Given the description of an element on the screen output the (x, y) to click on. 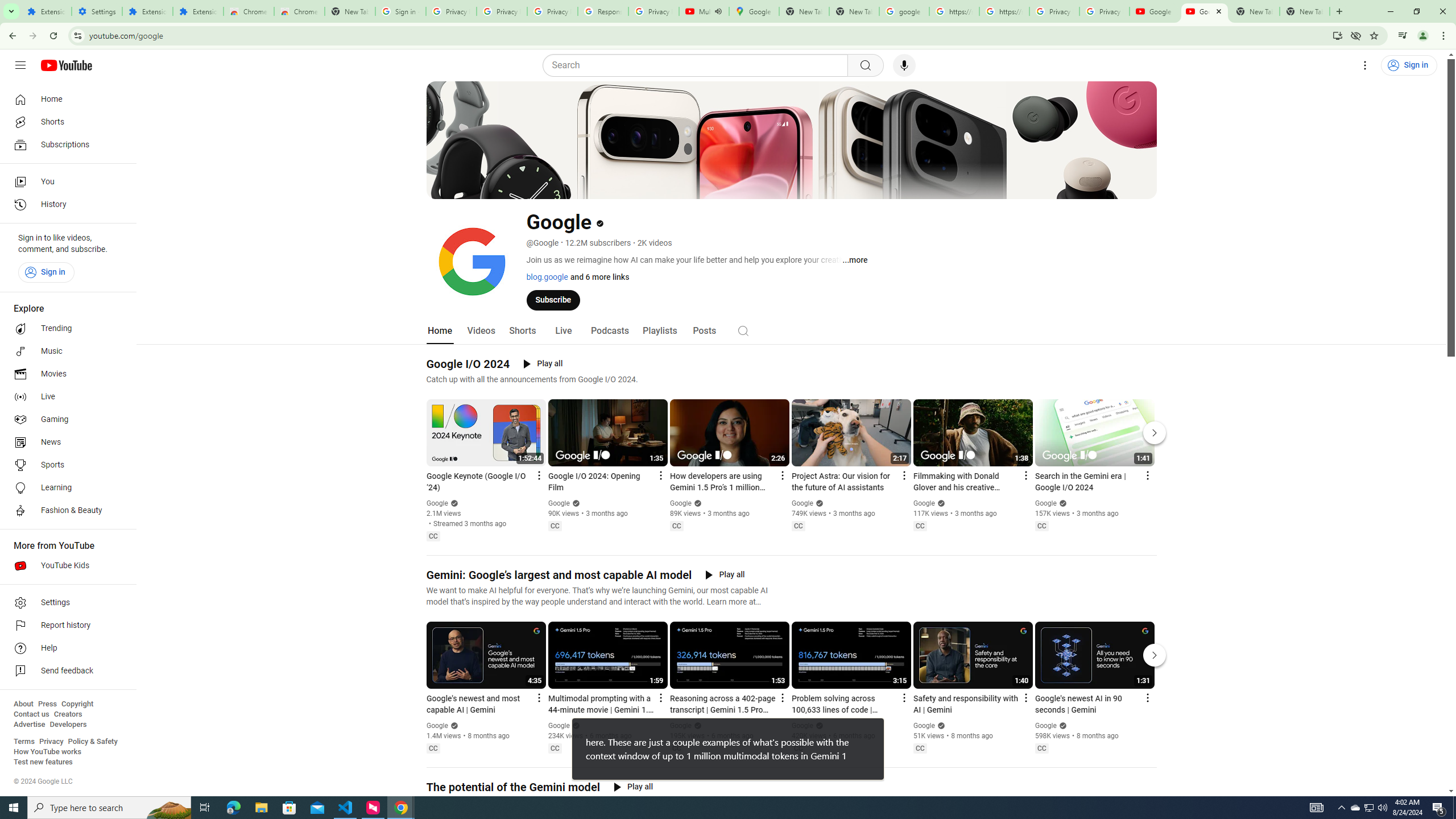
YouTube Home (66, 65)
YouTube Kids (64, 565)
Settings (64, 602)
Third-party cookies blocked (1355, 35)
Closed captions (1041, 748)
Fashion & Beauty (64, 510)
Google I/O 2024 (467, 363)
Developers (68, 724)
Send feedback (64, 671)
blog.google (546, 276)
News (64, 441)
